Given the description of an element on the screen output the (x, y) to click on. 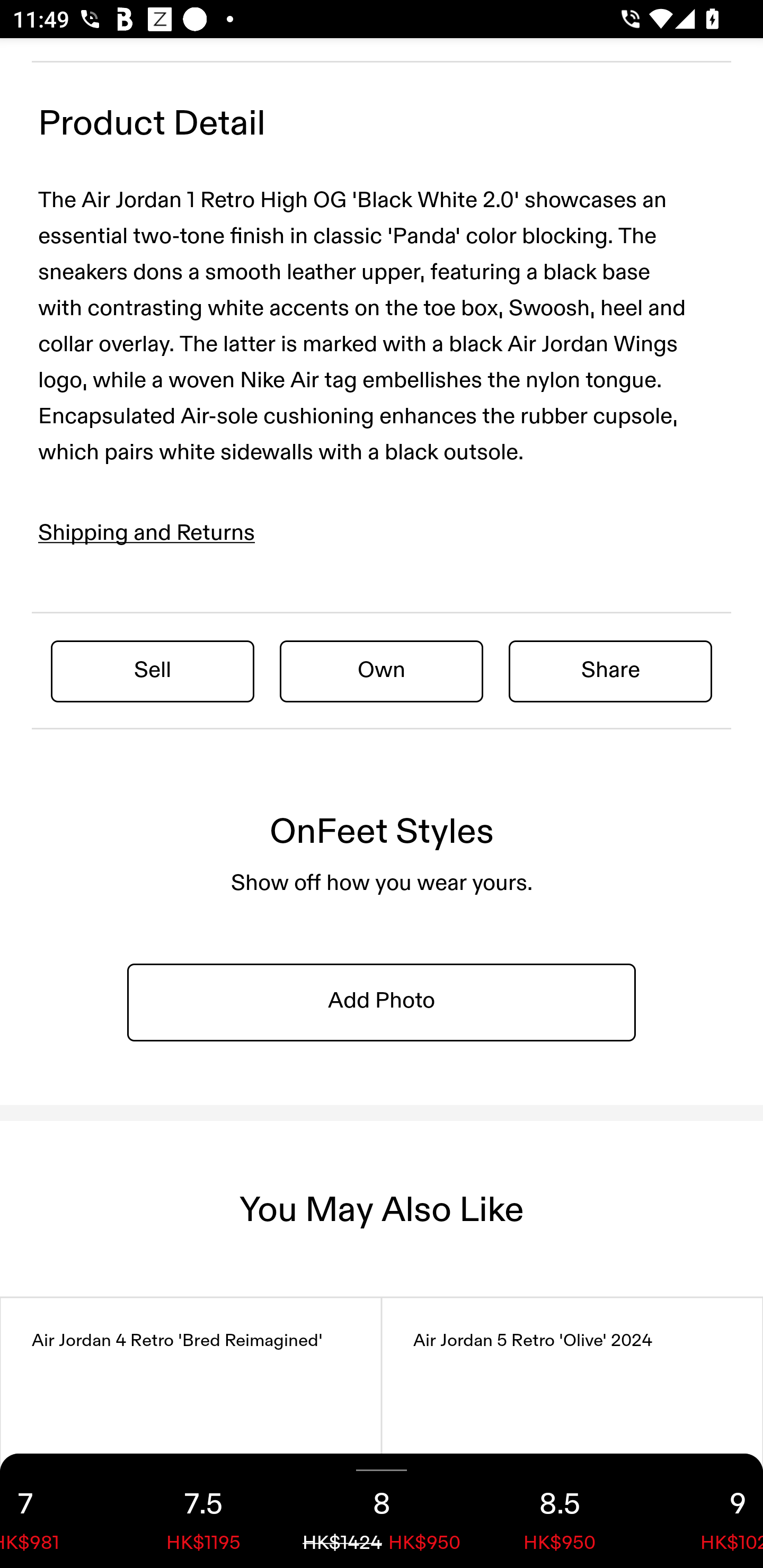
Shipping and Returns (146, 532)
Sell (152, 670)
Own (381, 670)
Share (609, 670)
Add Photo (381, 1001)
Air Jordan 4 Retro 'Bred Reimagined' (190, 1432)
Air Jordan 5 Retro 'Olive' 2024 (572, 1432)
7 HK$981 (57, 1510)
7.5 HK$1195 (203, 1510)
8 HK$1424 HK$950 (381, 1510)
8.5 HK$950 (559, 1510)
9 HK$1021 (705, 1510)
